Given the description of an element on the screen output the (x, y) to click on. 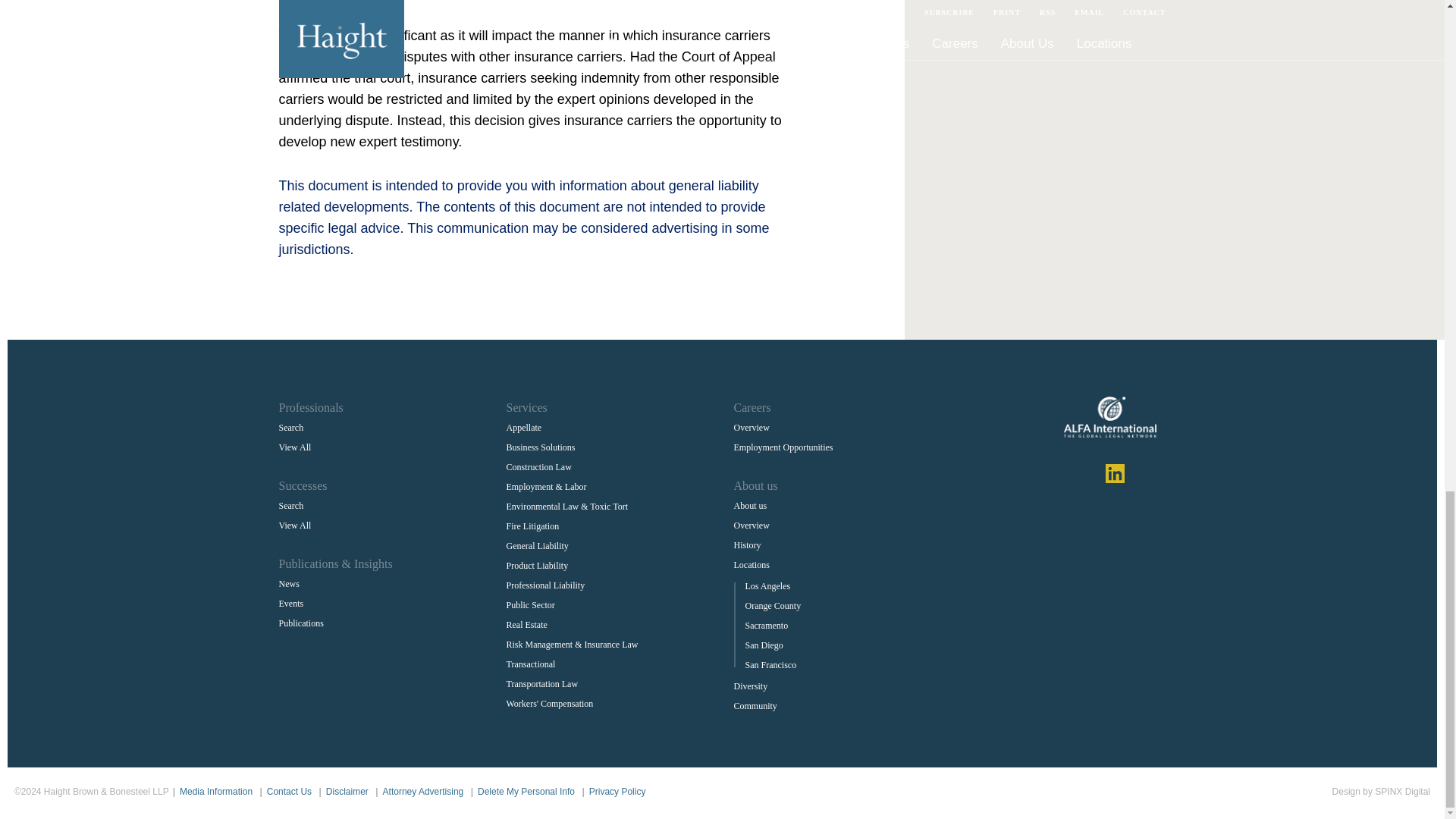
Construction Law (539, 467)
Search (291, 427)
General Liability (537, 545)
View All (295, 447)
Professional Liability (545, 585)
Public Sector (530, 604)
Transactional (531, 664)
Product Liability (537, 565)
Real Estate (526, 624)
Fire Litigation (532, 526)
Business Solutions (540, 447)
Appellate (523, 427)
